Given the description of an element on the screen output the (x, y) to click on. 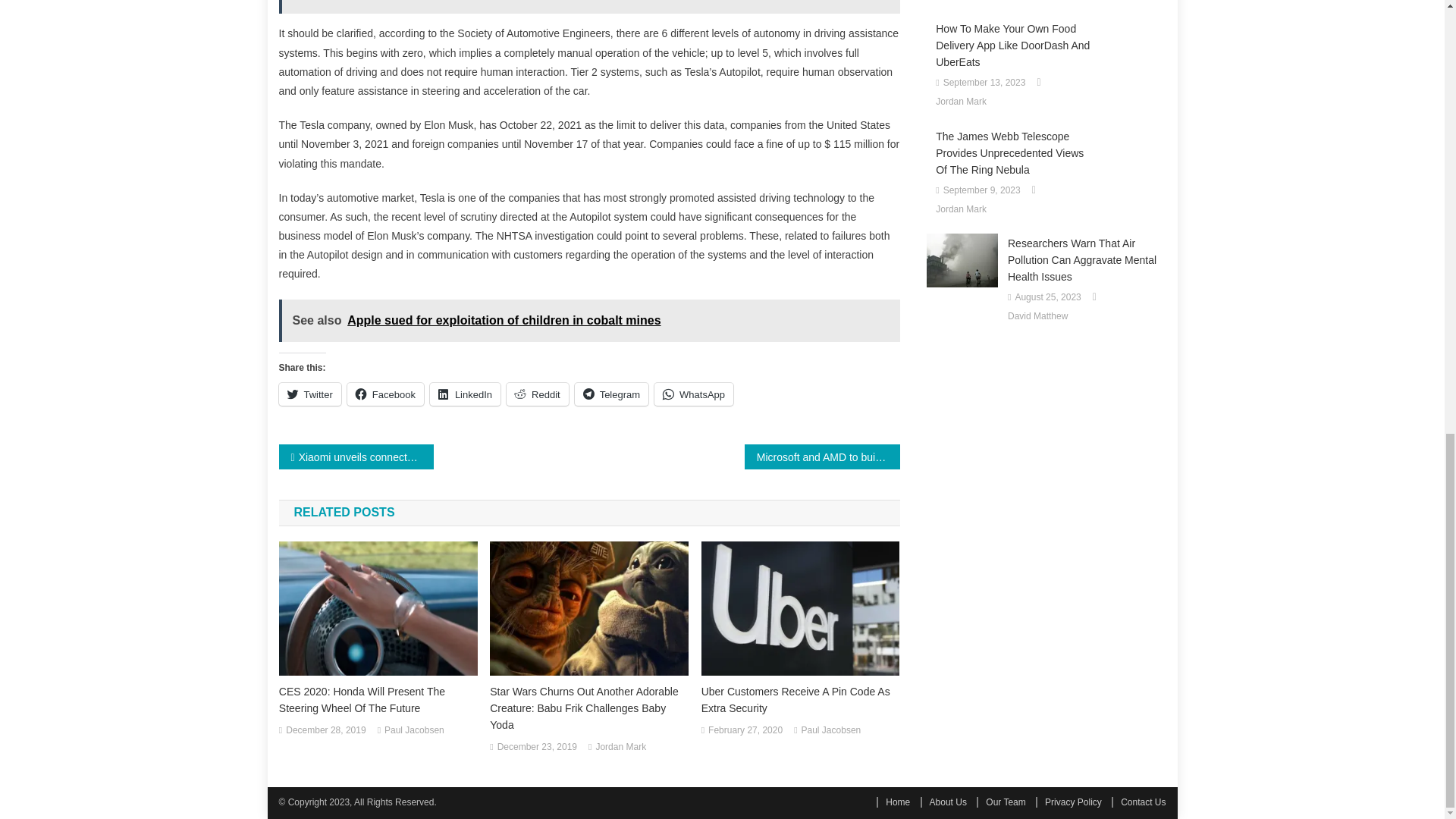
Microsoft and AMD to build ARM chip together (821, 456)
WhatsApp (693, 394)
Twitter (309, 394)
Telegram (611, 394)
Facebook (385, 394)
Click to share on Facebook (385, 394)
Click to share on Telegram (611, 394)
LinkedIn (464, 394)
December 28, 2019 (325, 730)
Click to share on Twitter (309, 394)
Click to share on Reddit (537, 394)
Reddit (537, 394)
